Given the description of an element on the screen output the (x, y) to click on. 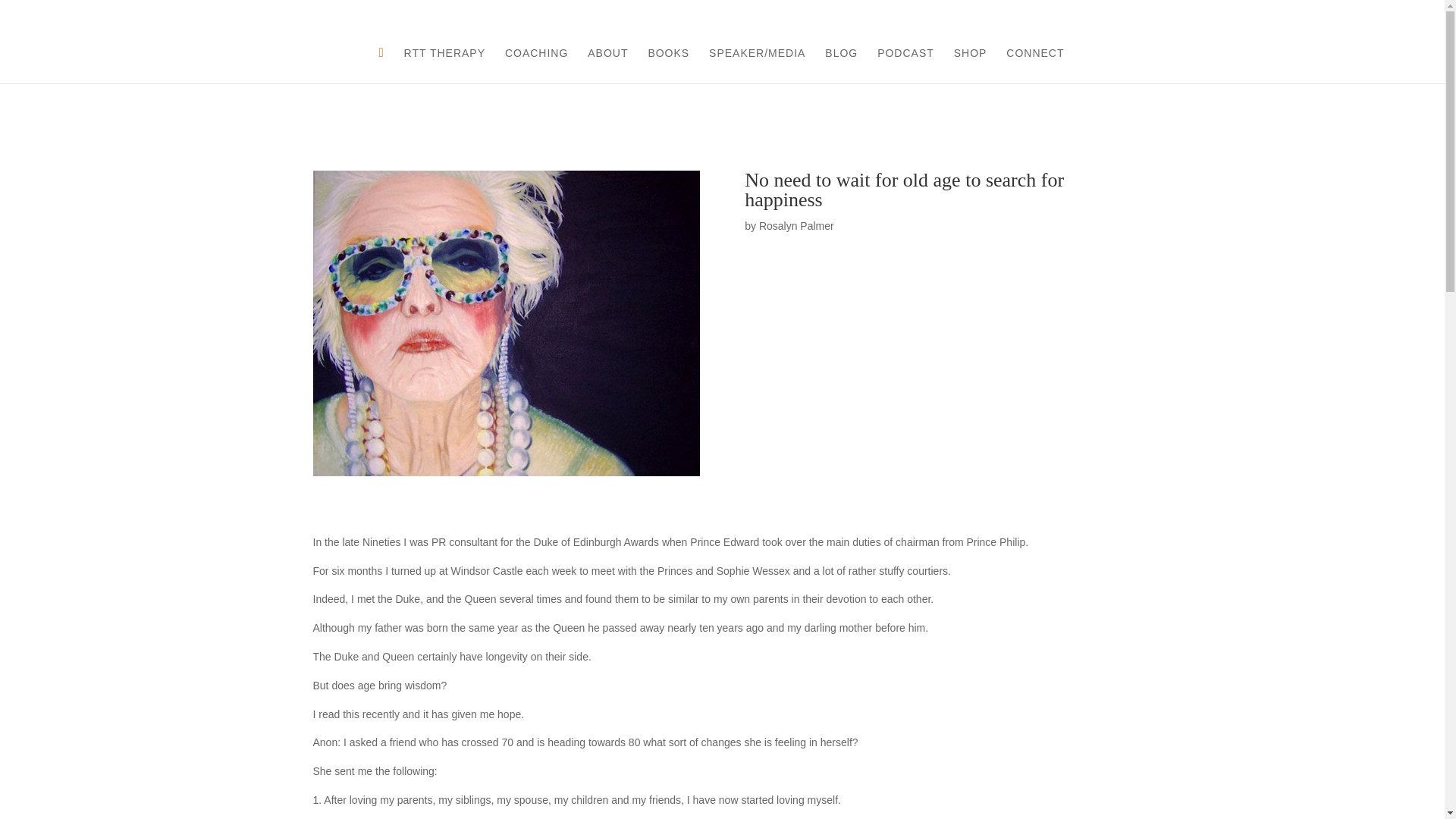
BLOG (841, 65)
BOOKS (667, 65)
Rosalyn Palmer (796, 225)
ABOUT (607, 65)
RTT THERAPY (444, 65)
Basket (1350, 14)
CONNECT (1035, 65)
Posts by Rosalyn Palmer (796, 225)
SHOP (970, 65)
COACHING (536, 65)
